Given the description of an element on the screen output the (x, y) to click on. 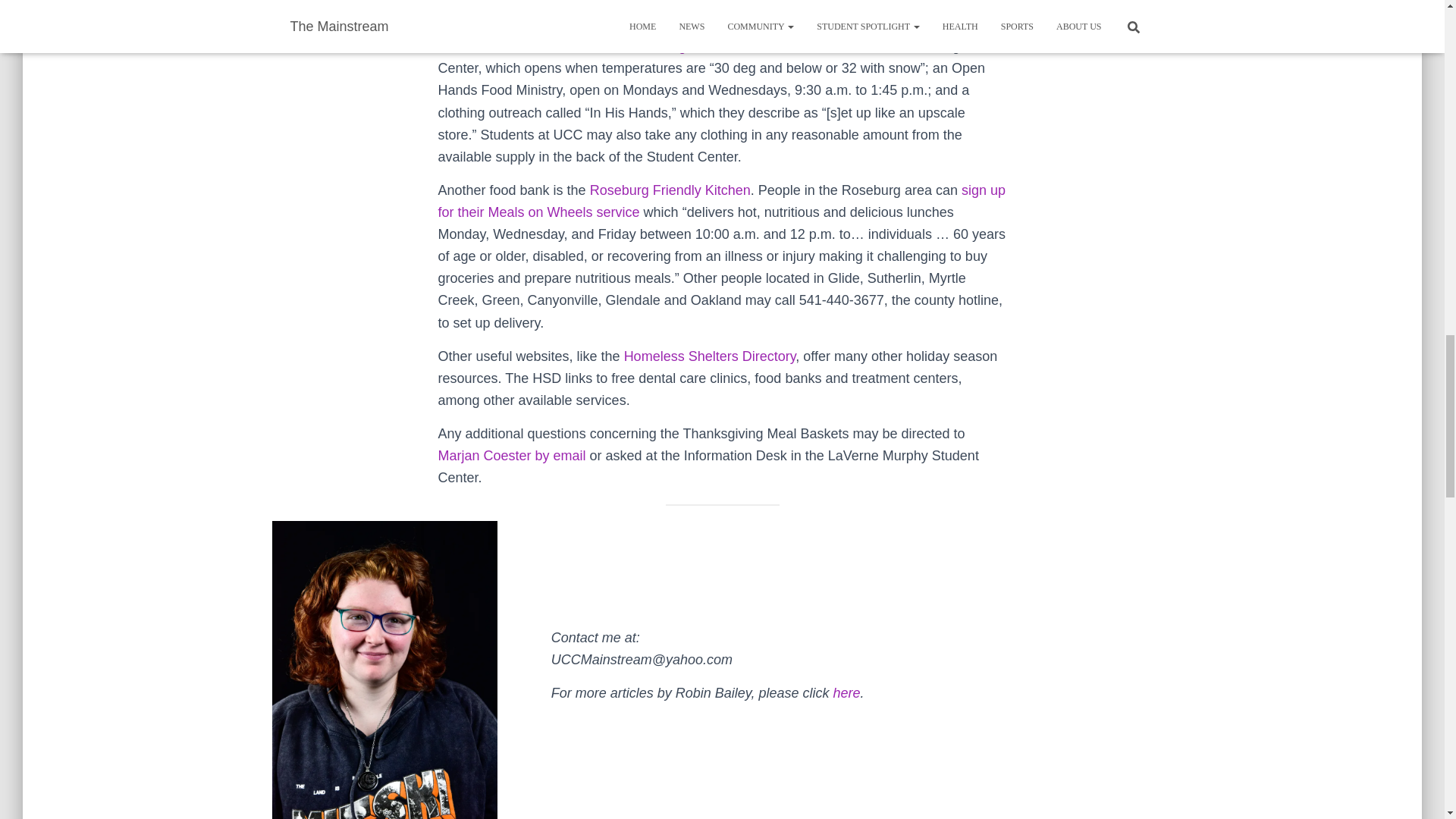
Marjan Coester by email (512, 455)
Roseburg Friendly Kitchen (670, 190)
sign up for their Meals on Wheels service (722, 201)
here (846, 693)
Homeless Shelters Directory (710, 355)
Roseburg Dream Center (700, 46)
